Given the description of an element on the screen output the (x, y) to click on. 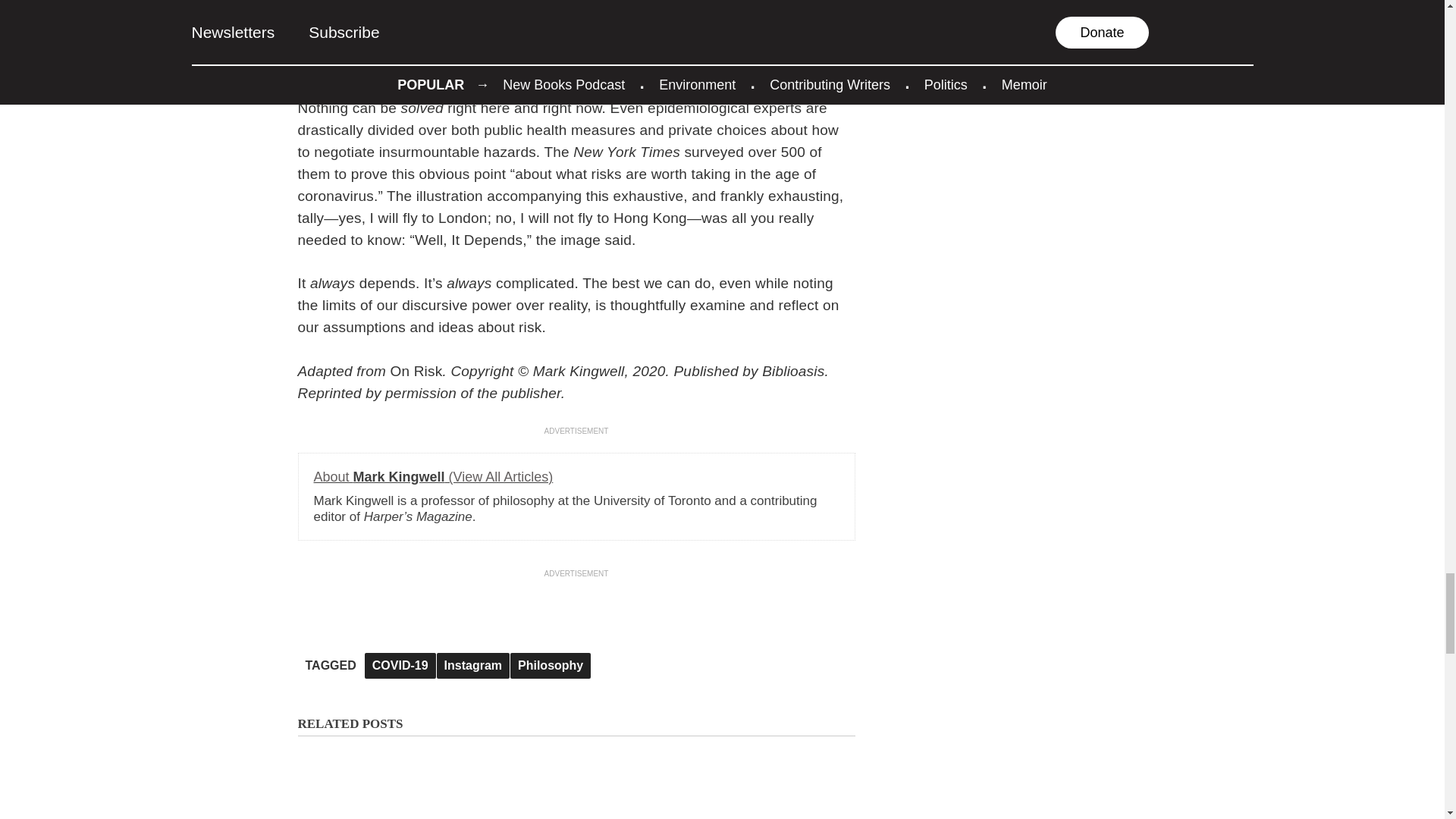
Mark Kingwell (433, 476)
